Given the description of an element on the screen output the (x, y) to click on. 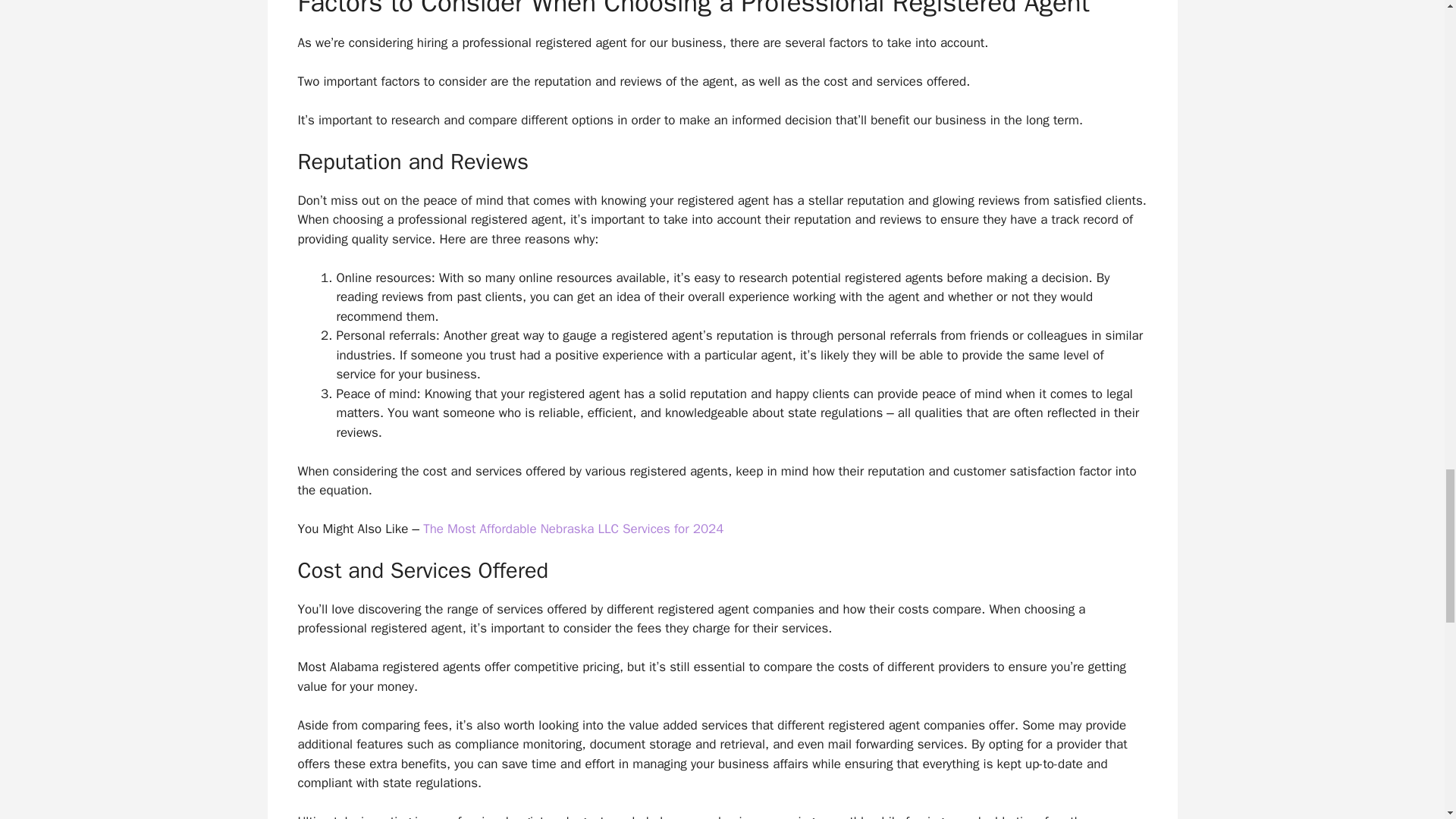
The Most Affordable Nebraska LLC Services for 2024 (573, 528)
